Given the description of an element on the screen output the (x, y) to click on. 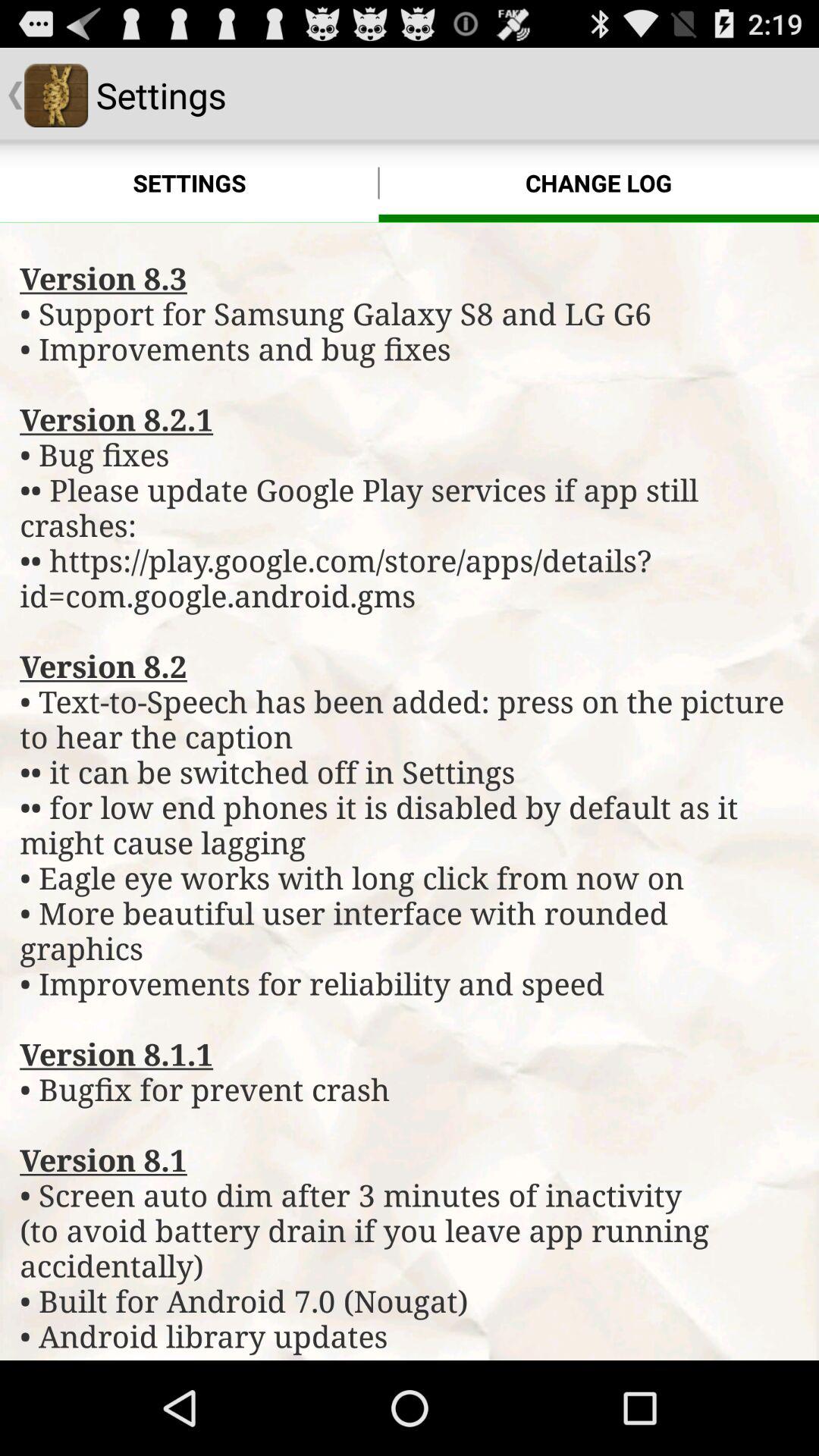
select the app to the right of settings item (598, 182)
